Given the description of an element on the screen output the (x, y) to click on. 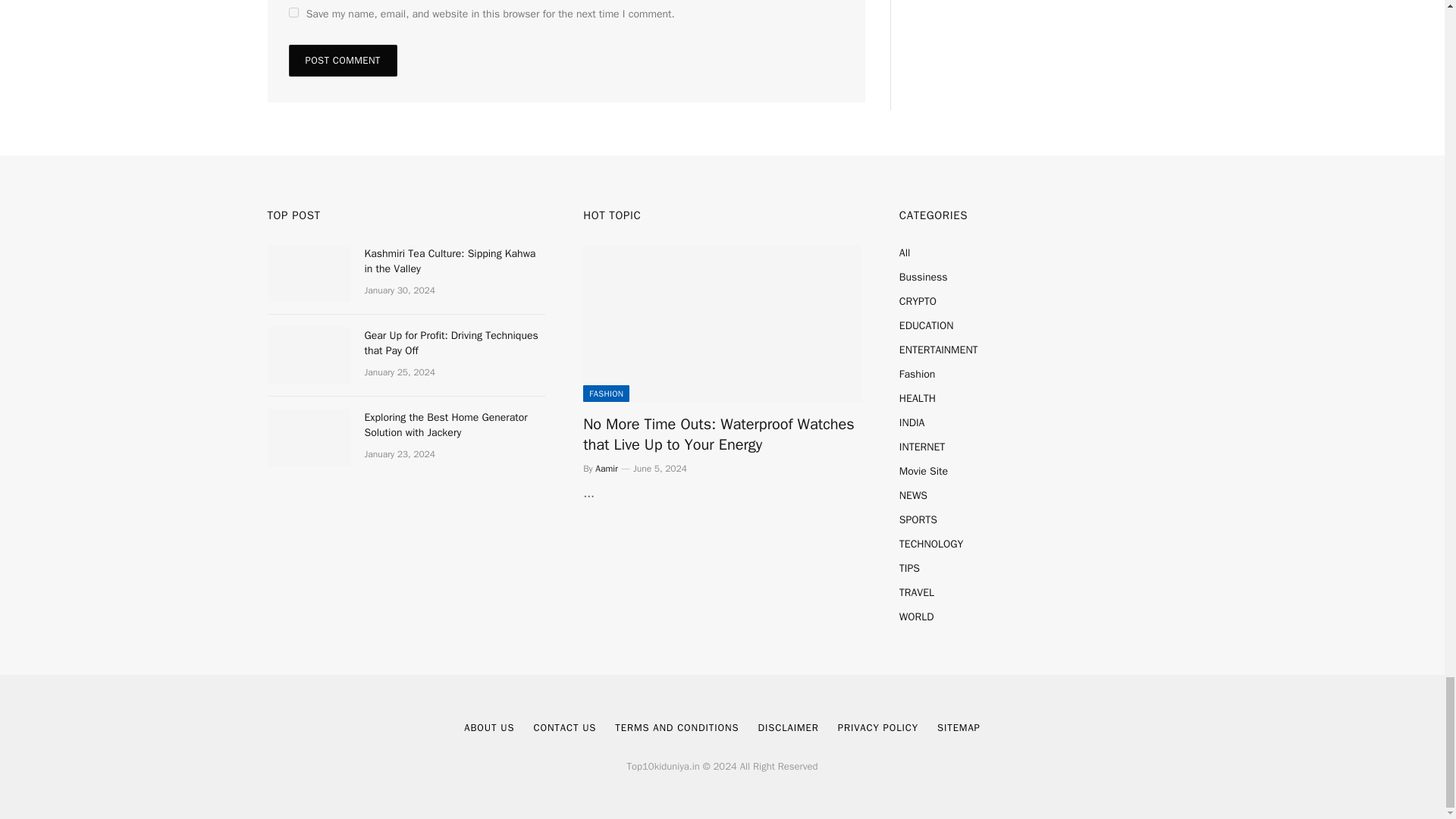
yes (293, 12)
Post Comment (342, 60)
